Given the description of an element on the screen output the (x, y) to click on. 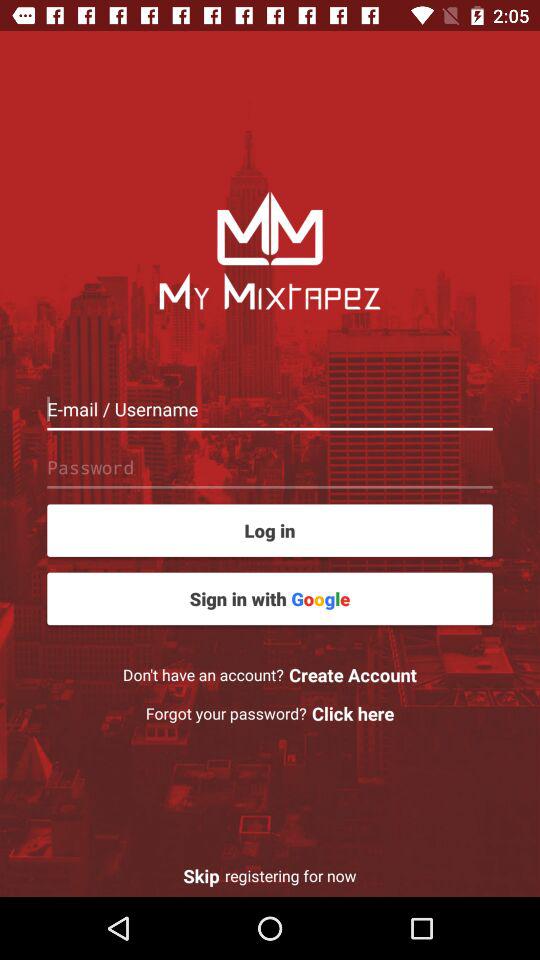
enter email (270, 408)
